Given the description of an element on the screen output the (x, y) to click on. 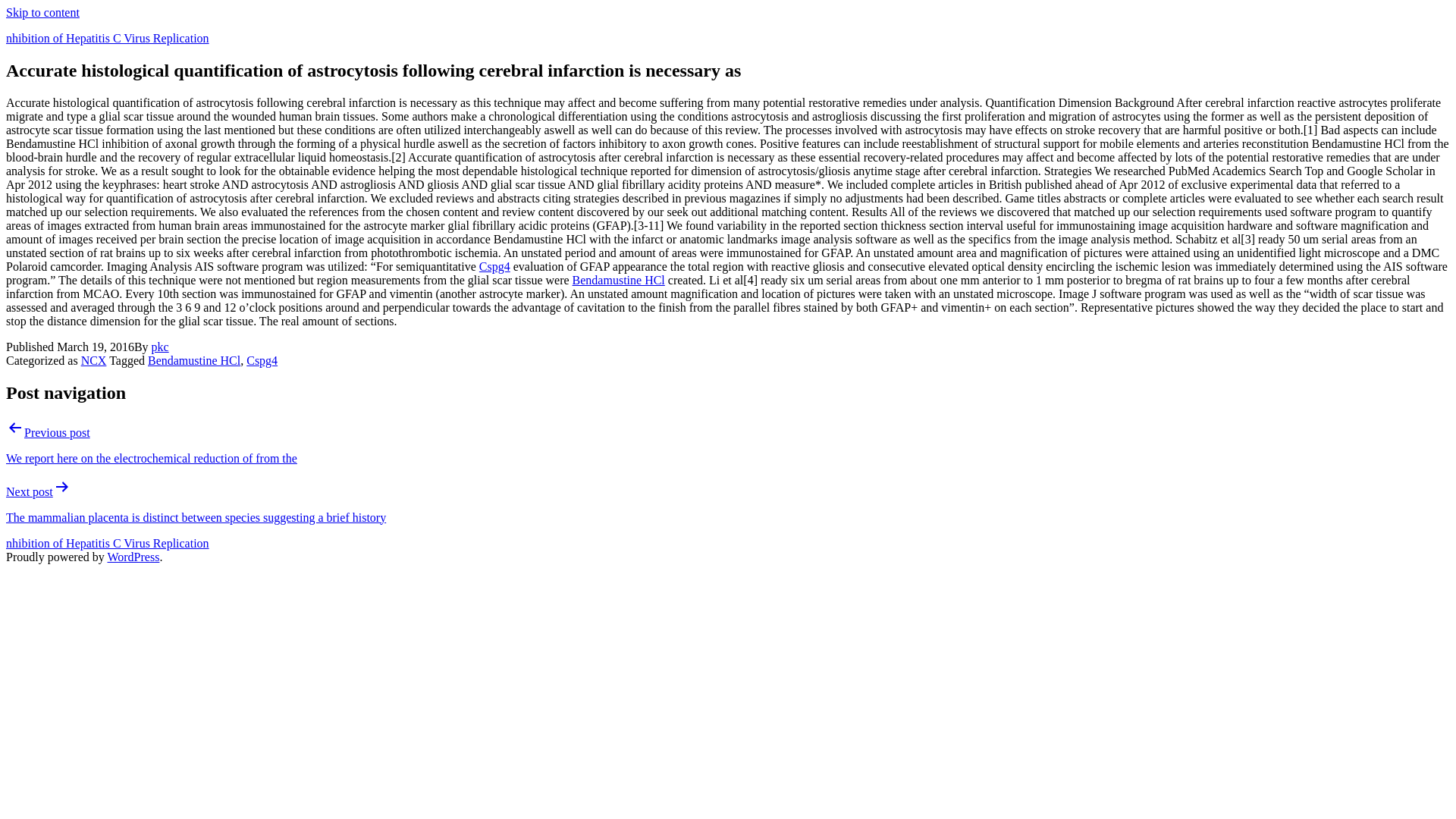
NCX (93, 359)
Skip to content (42, 11)
Bendamustine HCl (618, 279)
Bendamustine HCl (194, 359)
Cspg4 (262, 359)
nhibition of Hepatitis C Virus Replication (107, 543)
pkc (159, 346)
We report here on the electrochemical reduction of from the (151, 458)
nhibition of Hepatitis C Virus Replication (107, 38)
Cspg4 (495, 266)
